Given the description of an element on the screen output the (x, y) to click on. 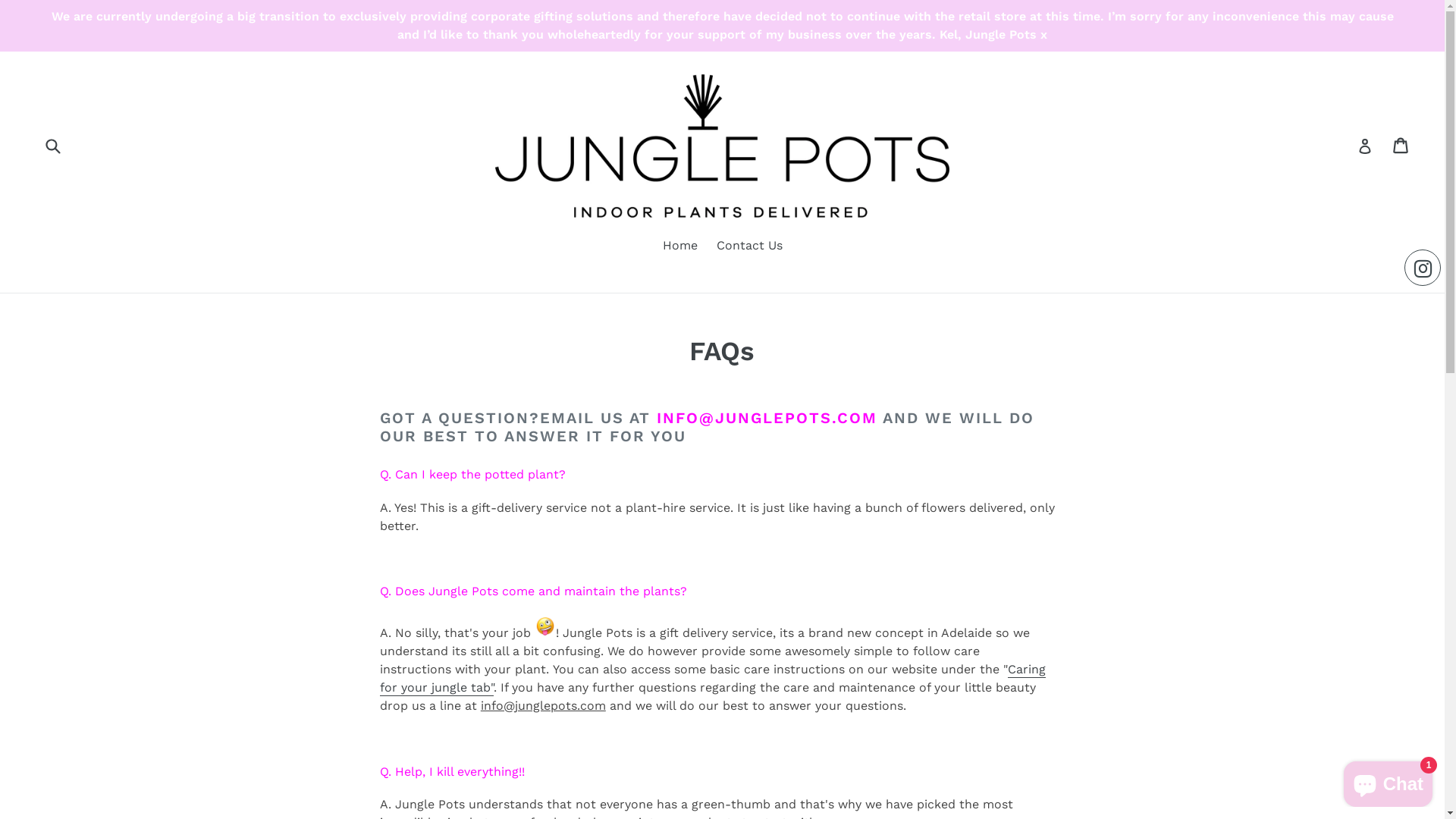
Home Element type: text (680, 246)
Caring for your jungle tab" Element type: text (712, 679)
Submit Element type: text (51, 145)
Shopify online store chat Element type: hover (1388, 780)
Cart
Cart Element type: text (1401, 145)
Contact Us Element type: text (748, 246)
Log in Element type: text (1364, 145)
